Given the description of an element on the screen output the (x, y) to click on. 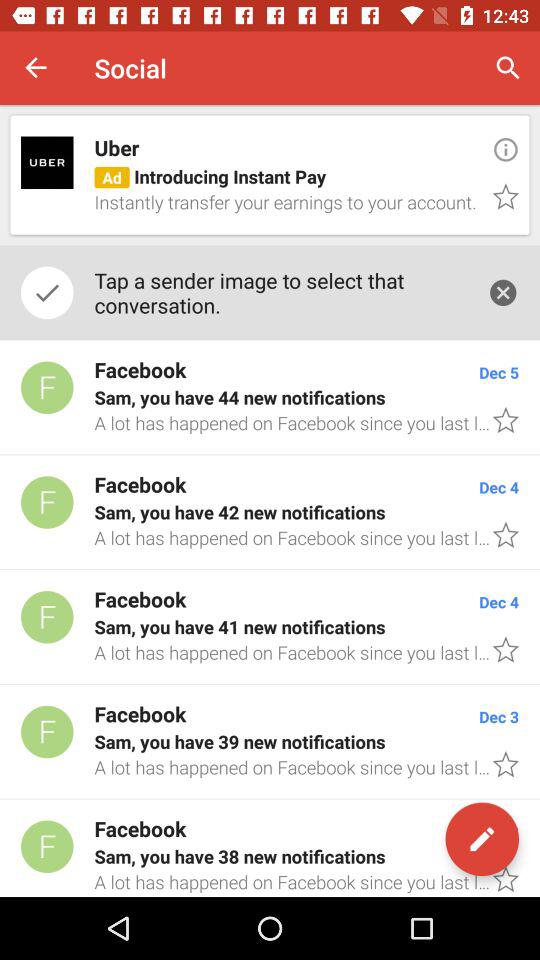
click item next to the social (36, 68)
